Given the description of an element on the screen output the (x, y) to click on. 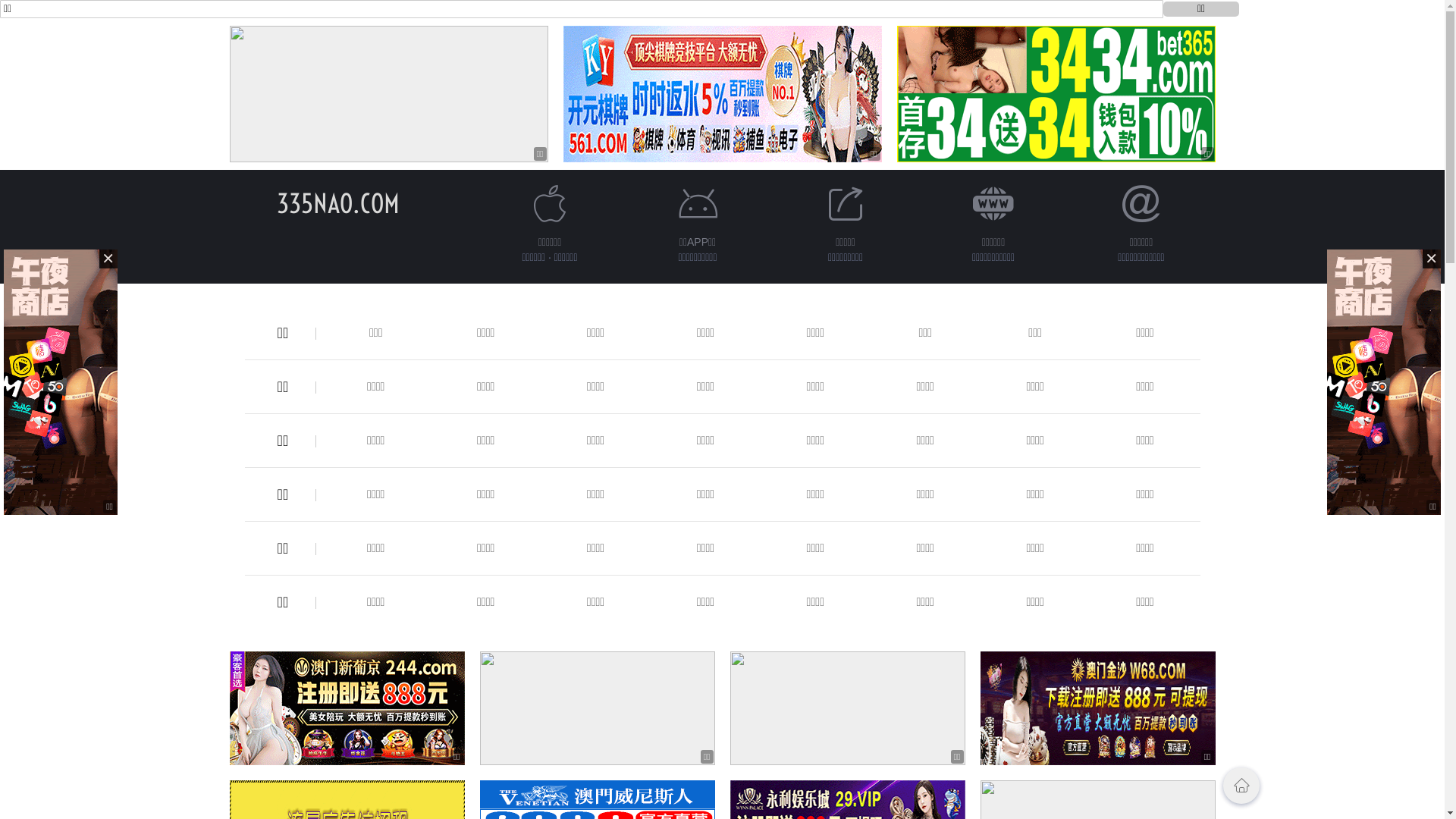
335NAO.COM Element type: text (337, 203)
